Given the description of an element on the screen output the (x, y) to click on. 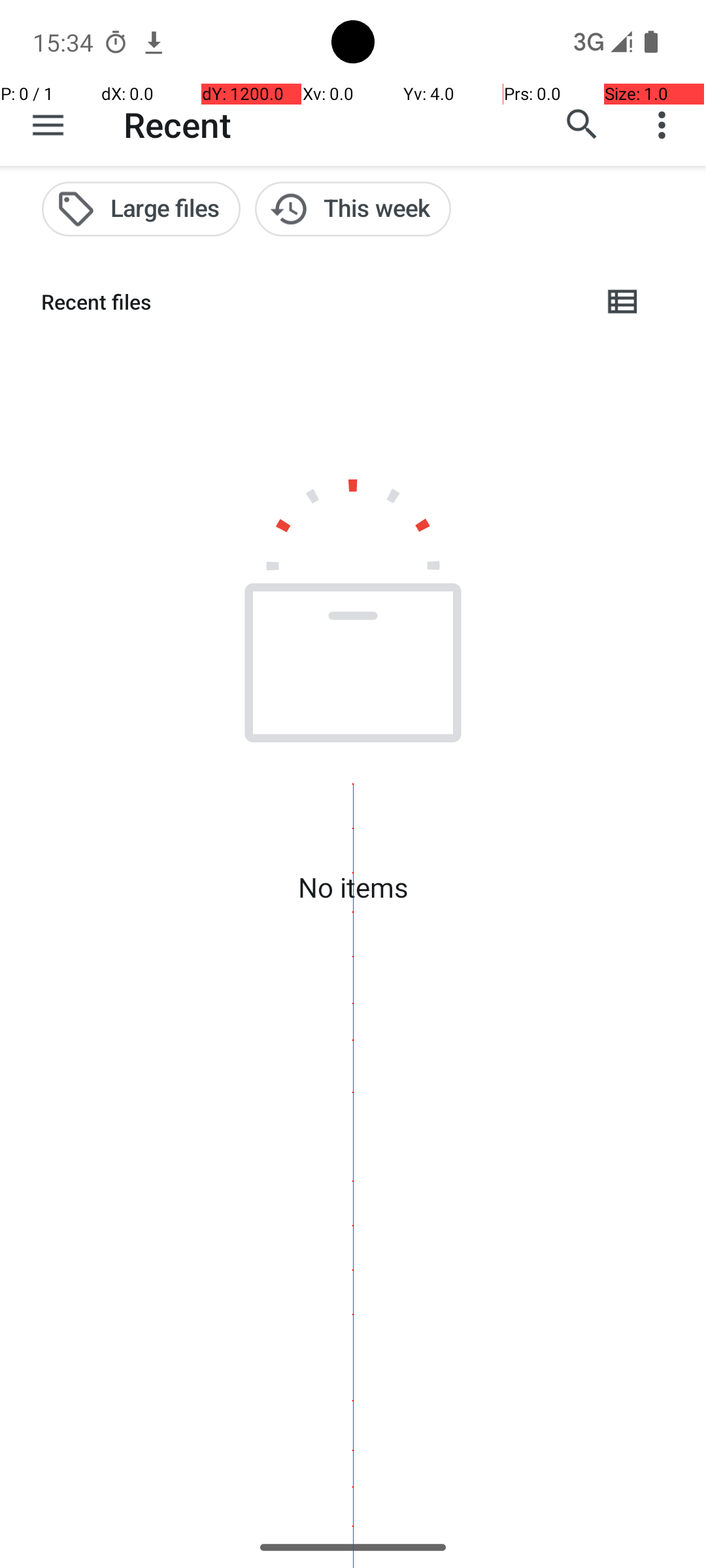
Chrome notification: www.espn.com Element type: android.widget.ImageView (153, 41)
